Given the description of an element on the screen output the (x, y) to click on. 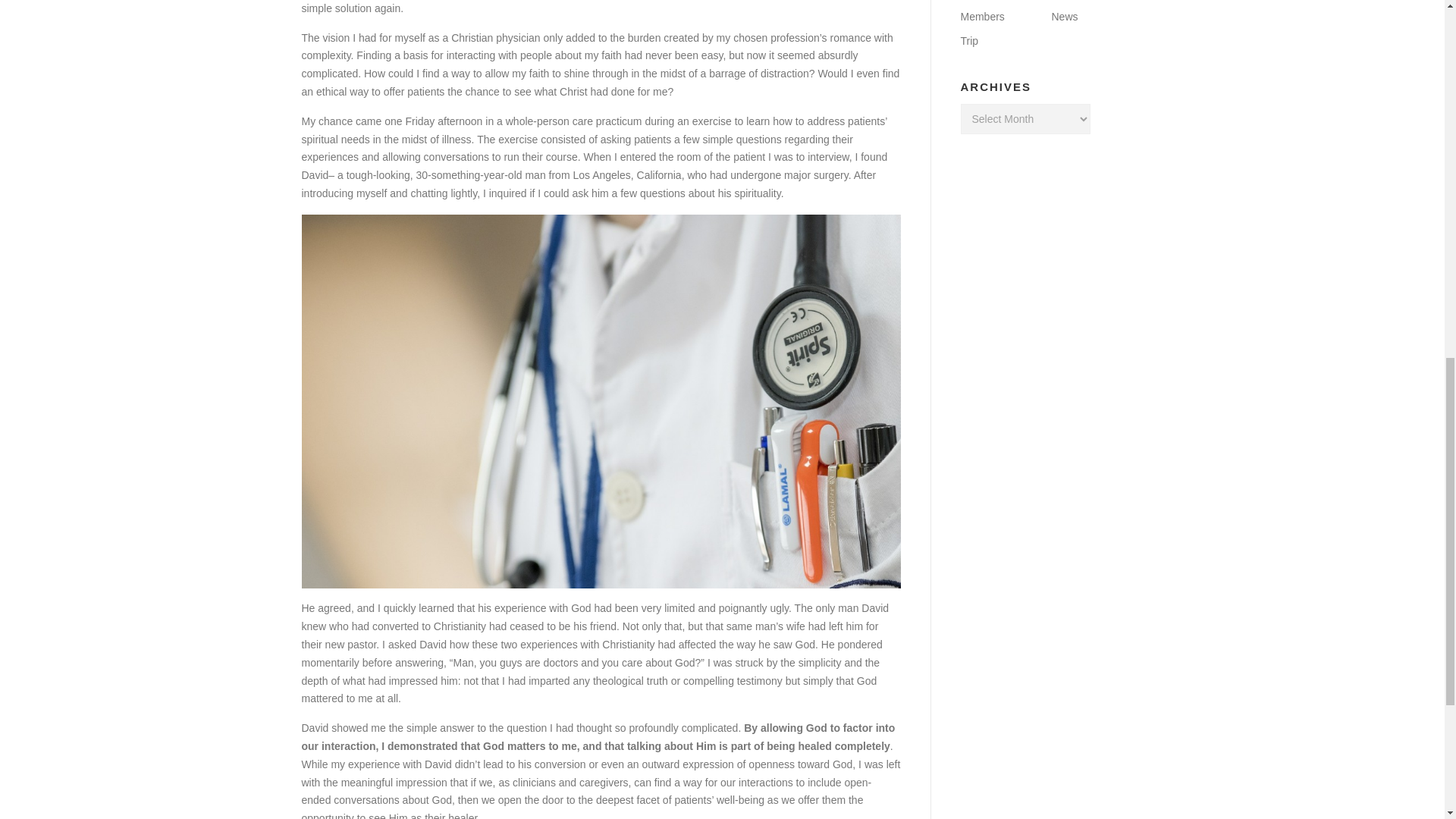
News (1064, 16)
Trip (968, 40)
Members (981, 16)
